Given the description of an element on the screen output the (x, y) to click on. 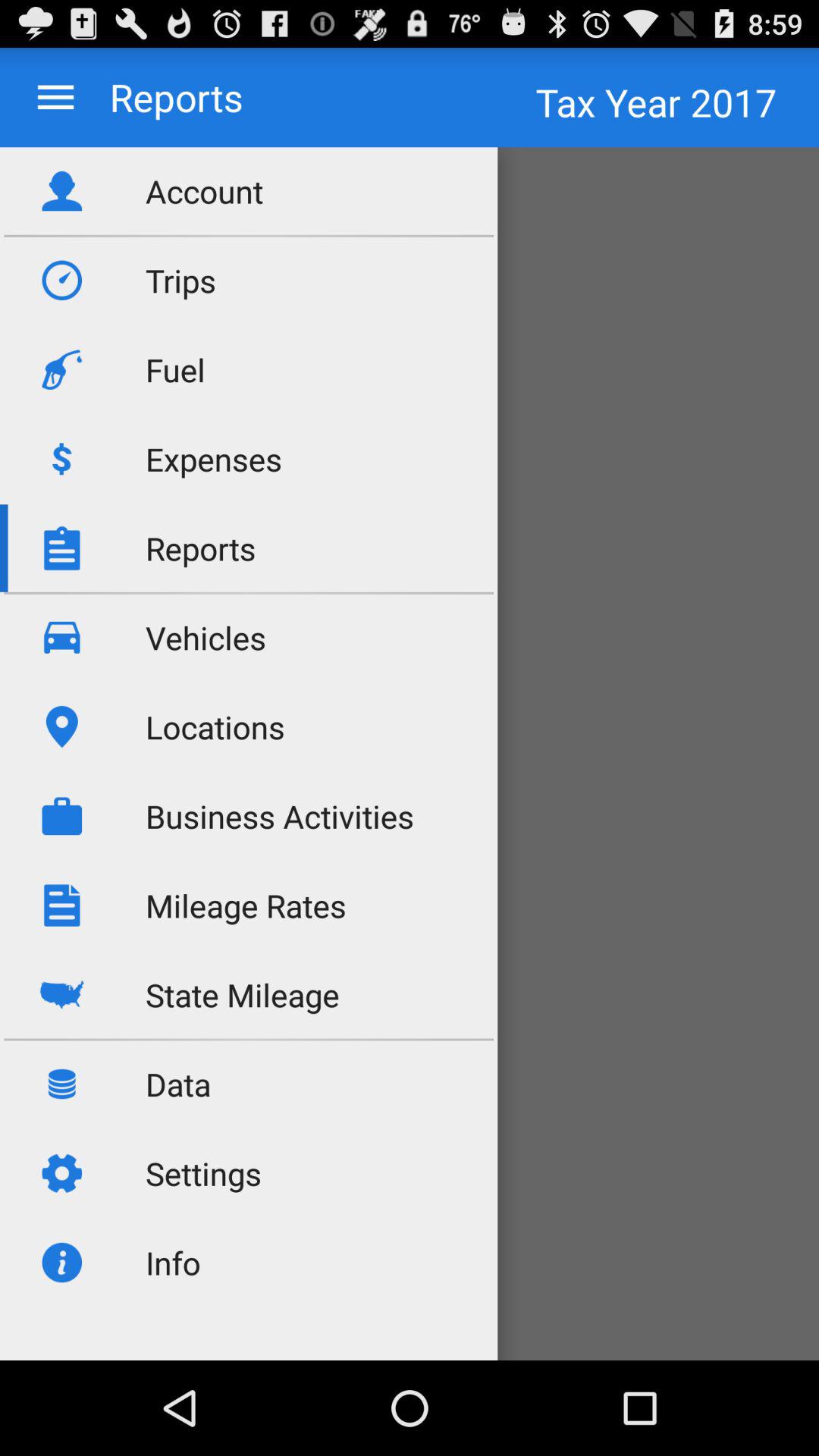
open menu (55, 97)
